Given the description of an element on the screen output the (x, y) to click on. 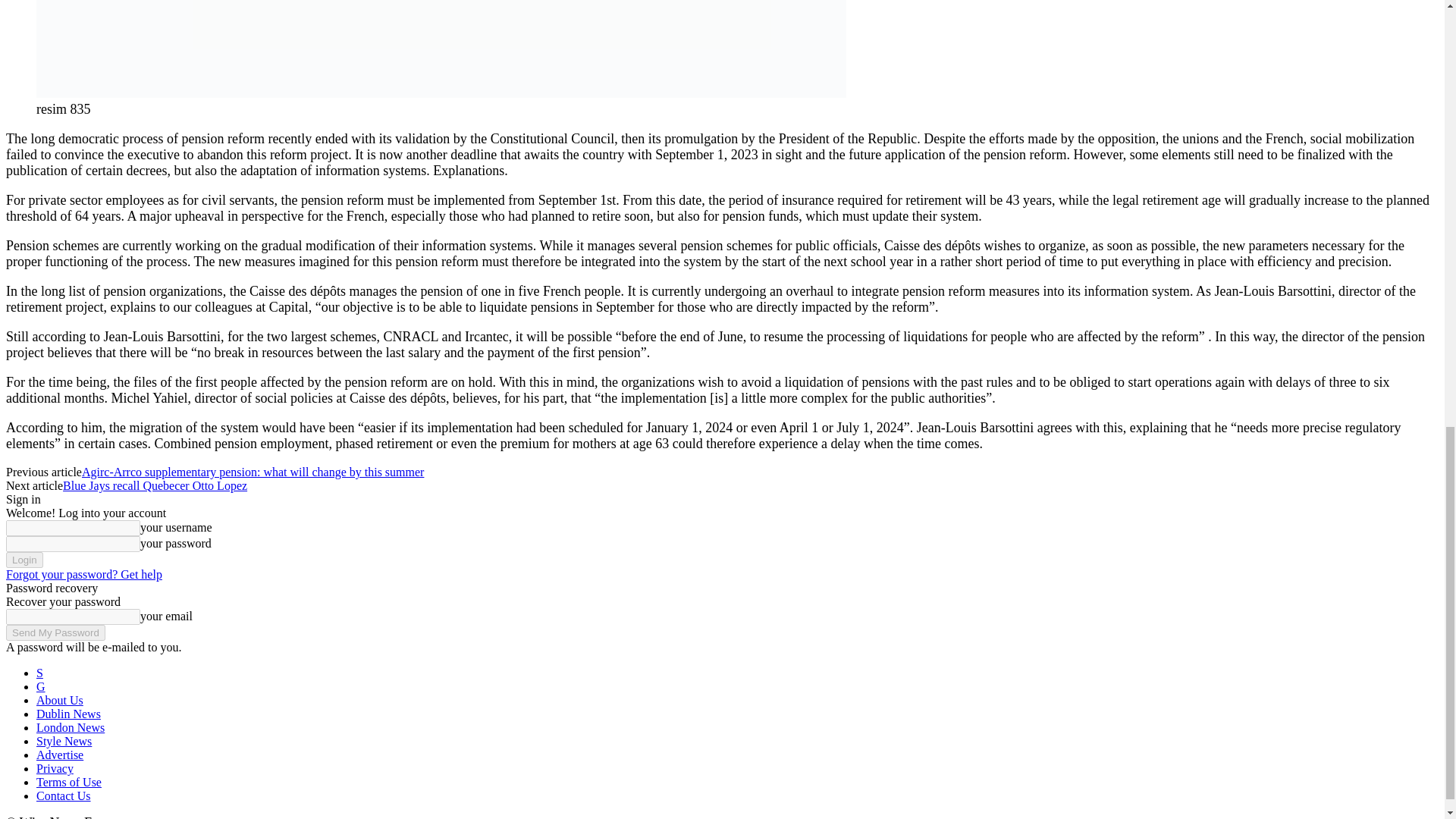
About Us (59, 699)
resim 835 (440, 48)
Advertise (59, 754)
Dublin News (68, 713)
Privacy (55, 768)
Forgot your password? Get help (83, 574)
London News (70, 727)
Send My Password (54, 632)
Blue Jays recall Quebecer Otto Lopez (154, 485)
